Given the description of an element on the screen output the (x, y) to click on. 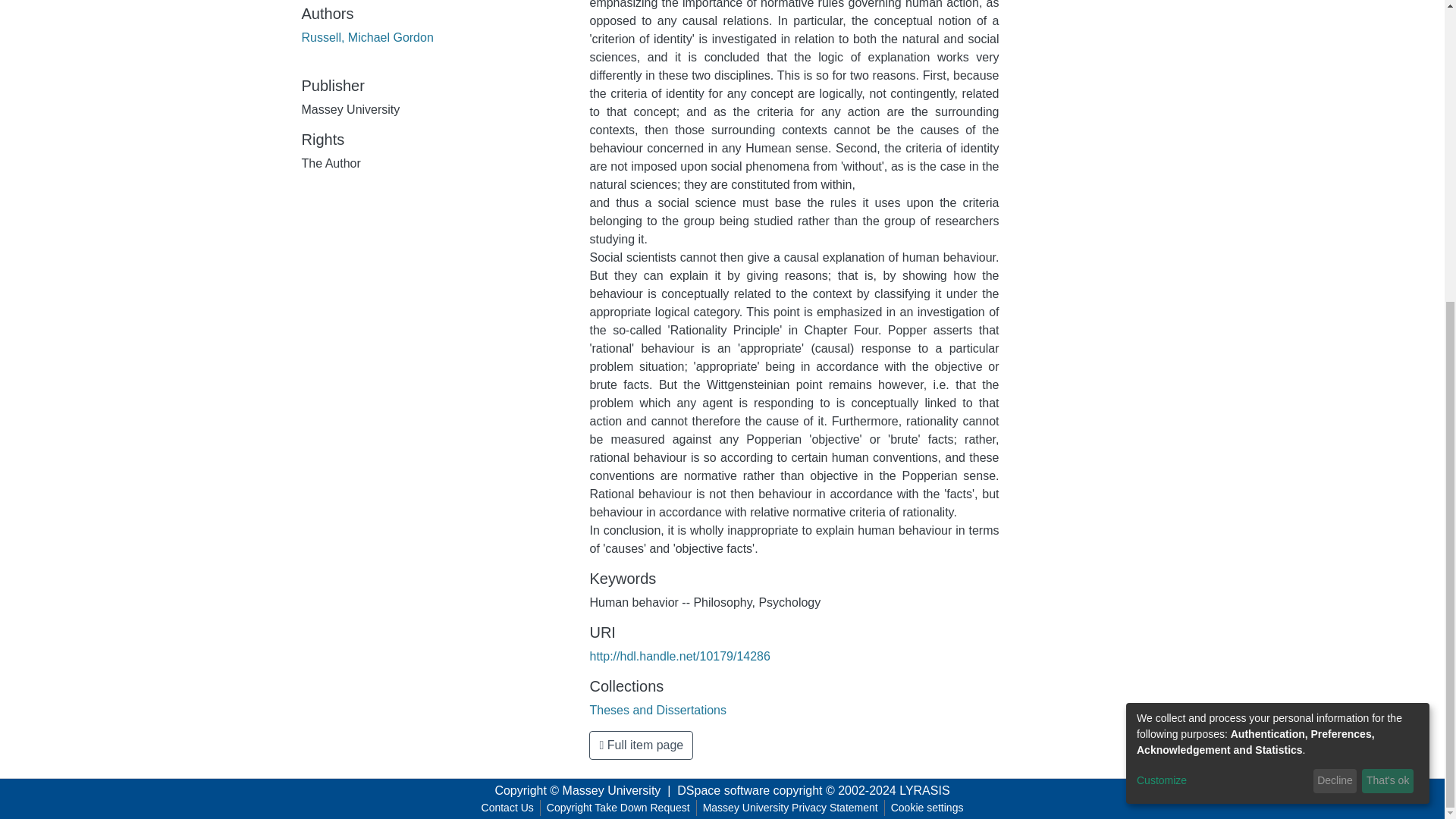
Contact Us (508, 807)
LYRASIS (924, 789)
DSpace software (723, 789)
Full item page (641, 745)
Russell, Michael Gordon (367, 37)
Theses and Dissertations (657, 709)
